Given the description of an element on the screen output the (x, y) to click on. 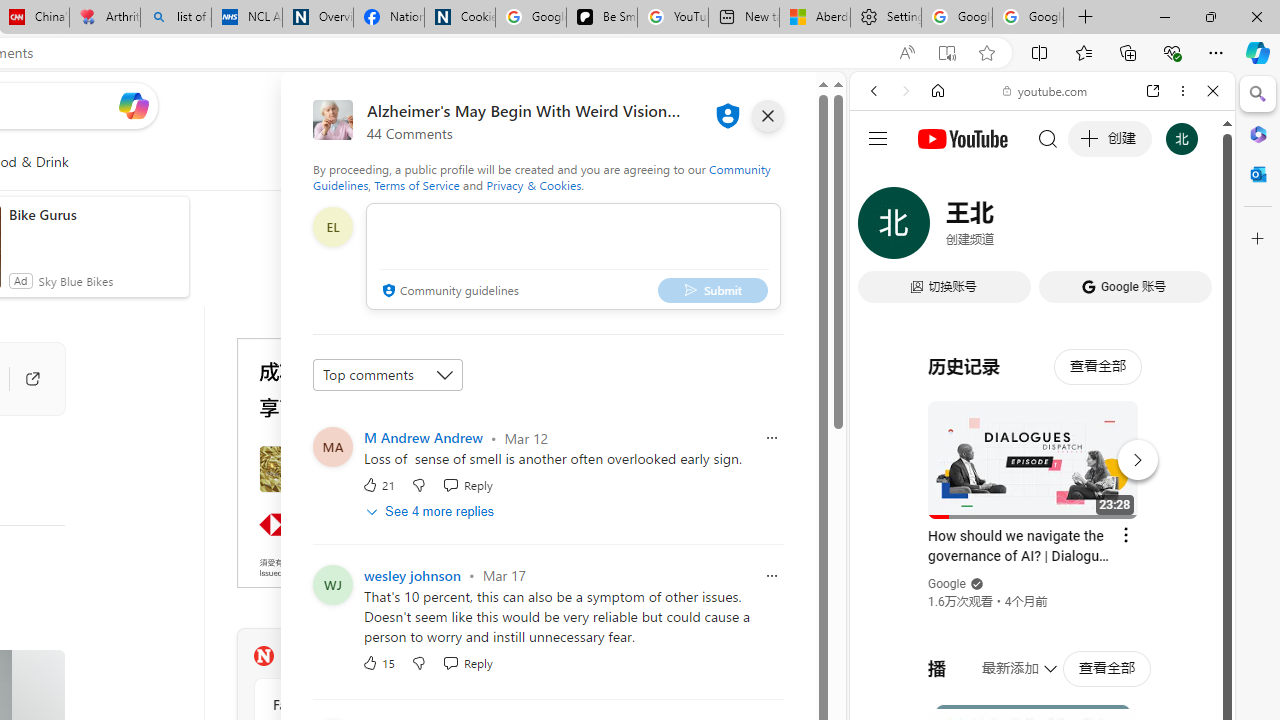
Reply Reply Comment (466, 662)
Class: qc-adchoices-icon (527, 345)
To get missing image descriptions, open the context menu. (449, 162)
Google (947, 584)
Aberdeen, Hong Kong SAR hourly forecast | Microsoft Weather (814, 17)
VIDEOS (1006, 228)
Bike Gurus (93, 214)
More options (1182, 91)
Be Smart | creating Science videos | Patreon (602, 17)
Show More Music (1164, 546)
Split screen (1039, 52)
